Given the description of an element on the screen output the (x, y) to click on. 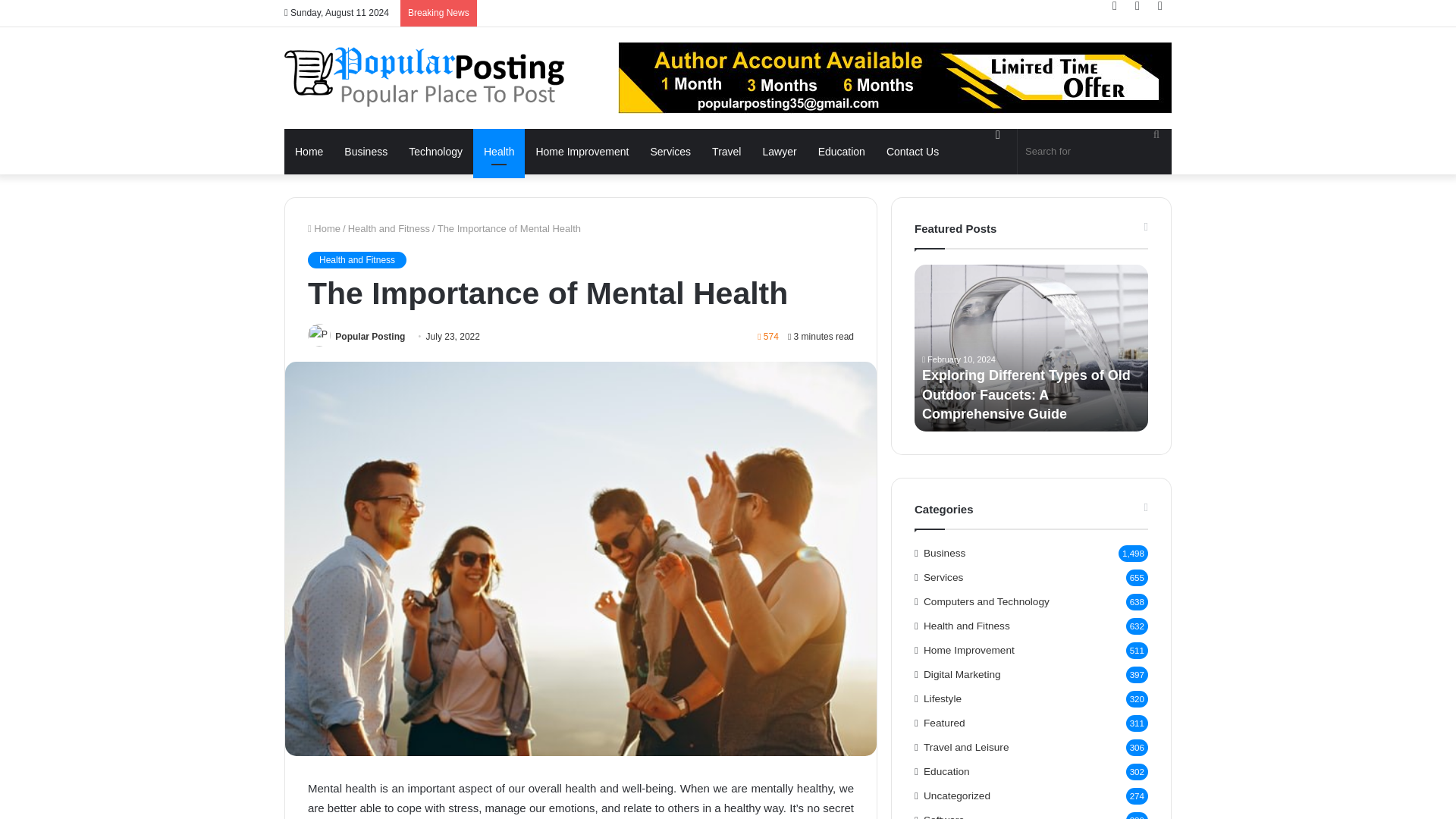
Travel (726, 151)
Popular Posting (369, 336)
Education (842, 151)
Random Article (1136, 6)
Random Article (1136, 6)
Home Improvement (581, 151)
Lawyer (778, 151)
Popular Posting - Latest News - Services (423, 75)
Contact Us (912, 151)
Health (498, 151)
